Given the description of an element on the screen output the (x, y) to click on. 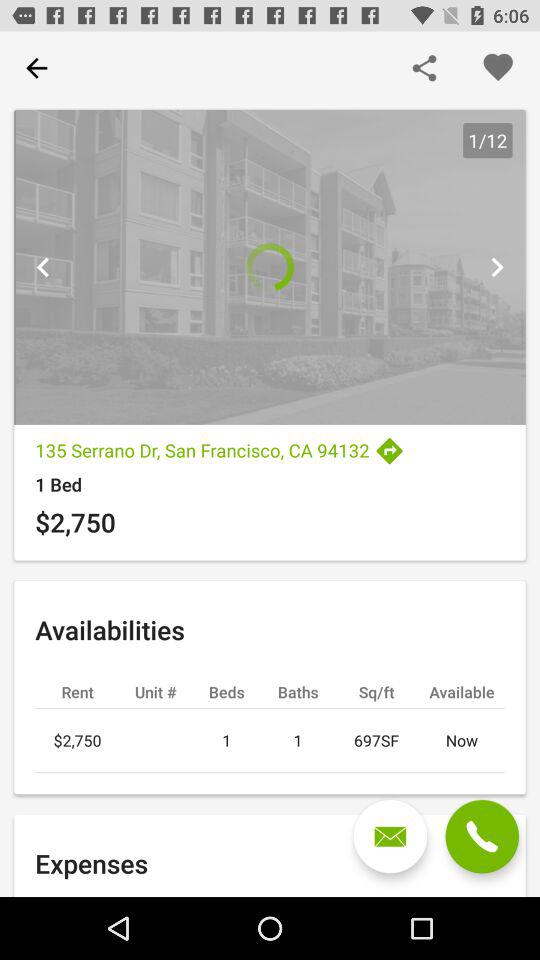
go to phone (481, 836)
